Given the description of an element on the screen output the (x, y) to click on. 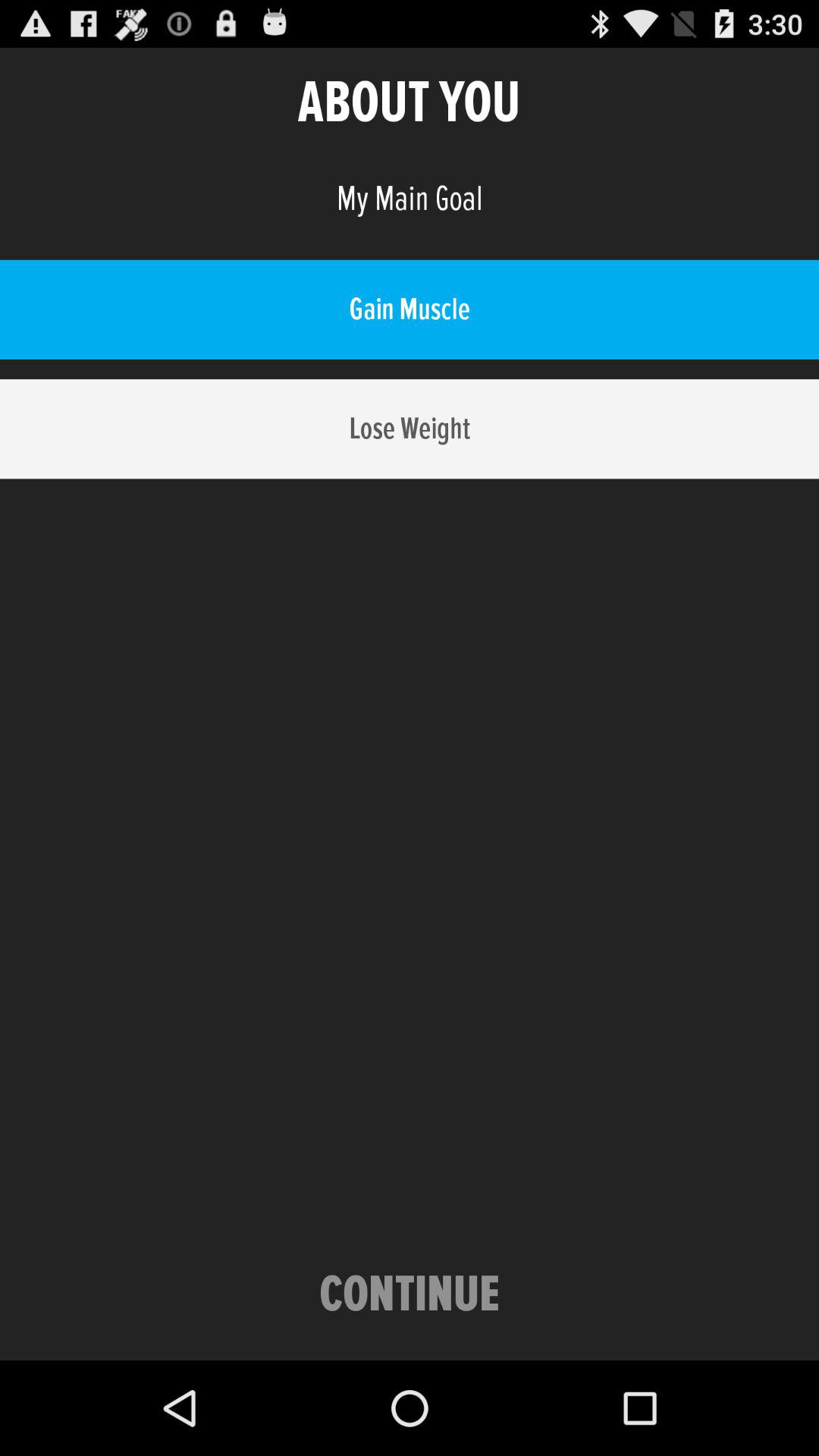
turn on icon at the bottom (409, 1295)
